Given the description of an element on the screen output the (x, y) to click on. 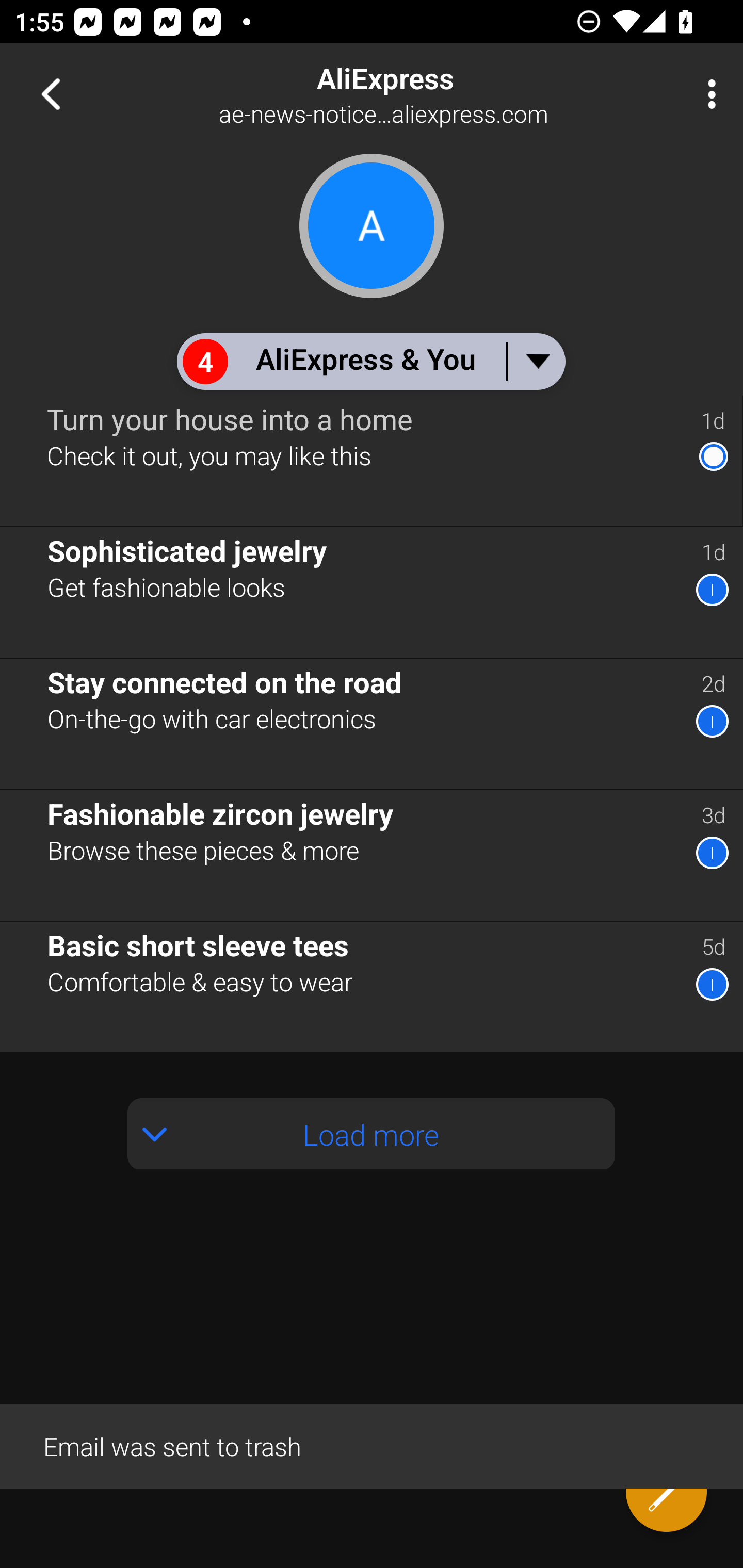
Navigate up (50, 93)
AliExpress ae-news-notice03@mail.aliexpress.com (436, 93)
More Options (706, 93)
4 AliExpress & You (370, 361)
Load more (371, 1132)
Email was sent to trash (371, 1445)
